Given the description of an element on the screen output the (x, y) to click on. 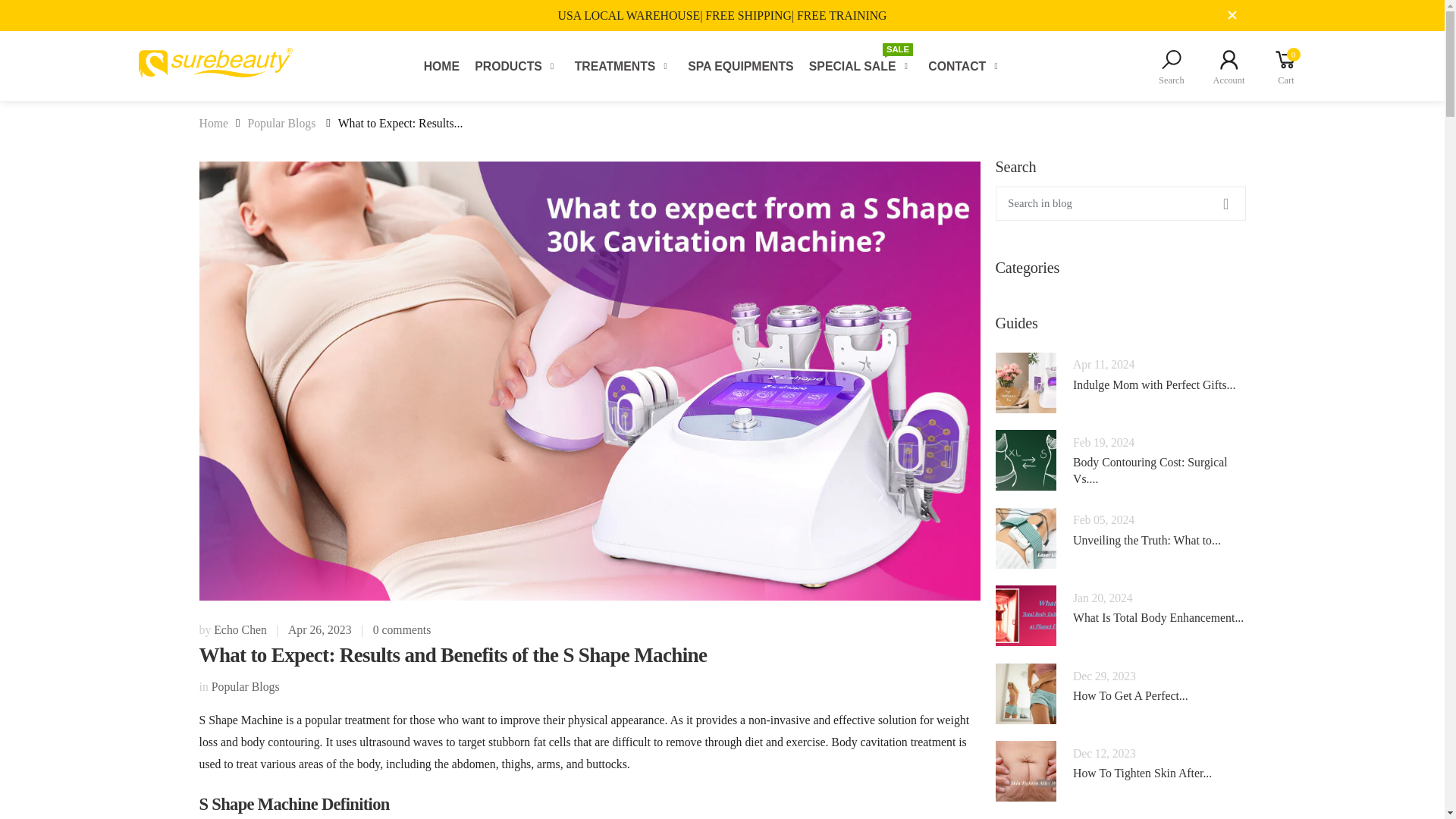
Home (213, 123)
PRODUCTS (516, 66)
TREATMENTS (623, 66)
